Given the description of an element on the screen output the (x, y) to click on. 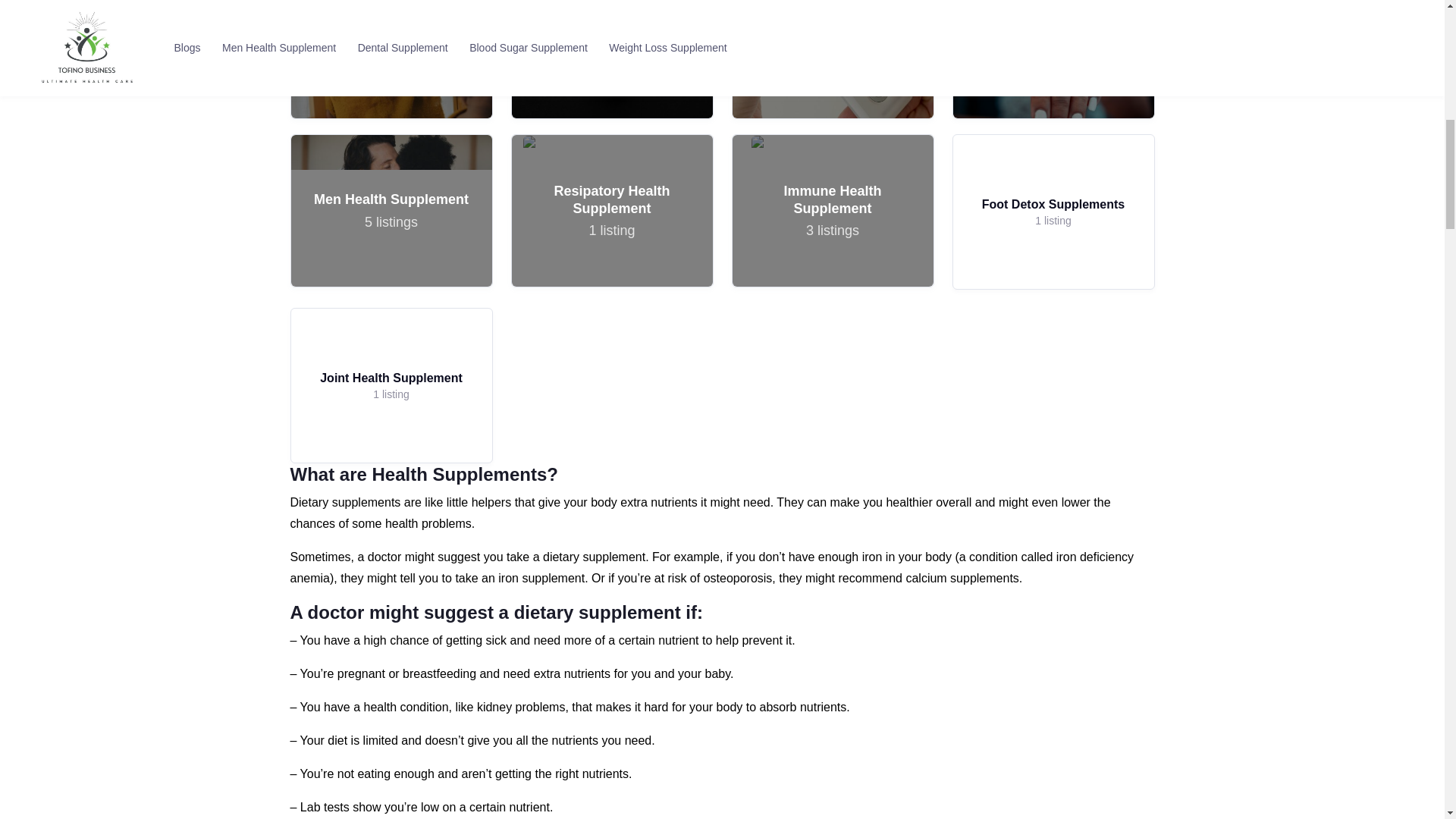
Dental Care Supplement (1053, 211)
Men Health Supplement (390, 58)
Immune Health Supplement (390, 59)
Brain Health Supplement (612, 59)
